Given the description of an element on the screen output the (x, y) to click on. 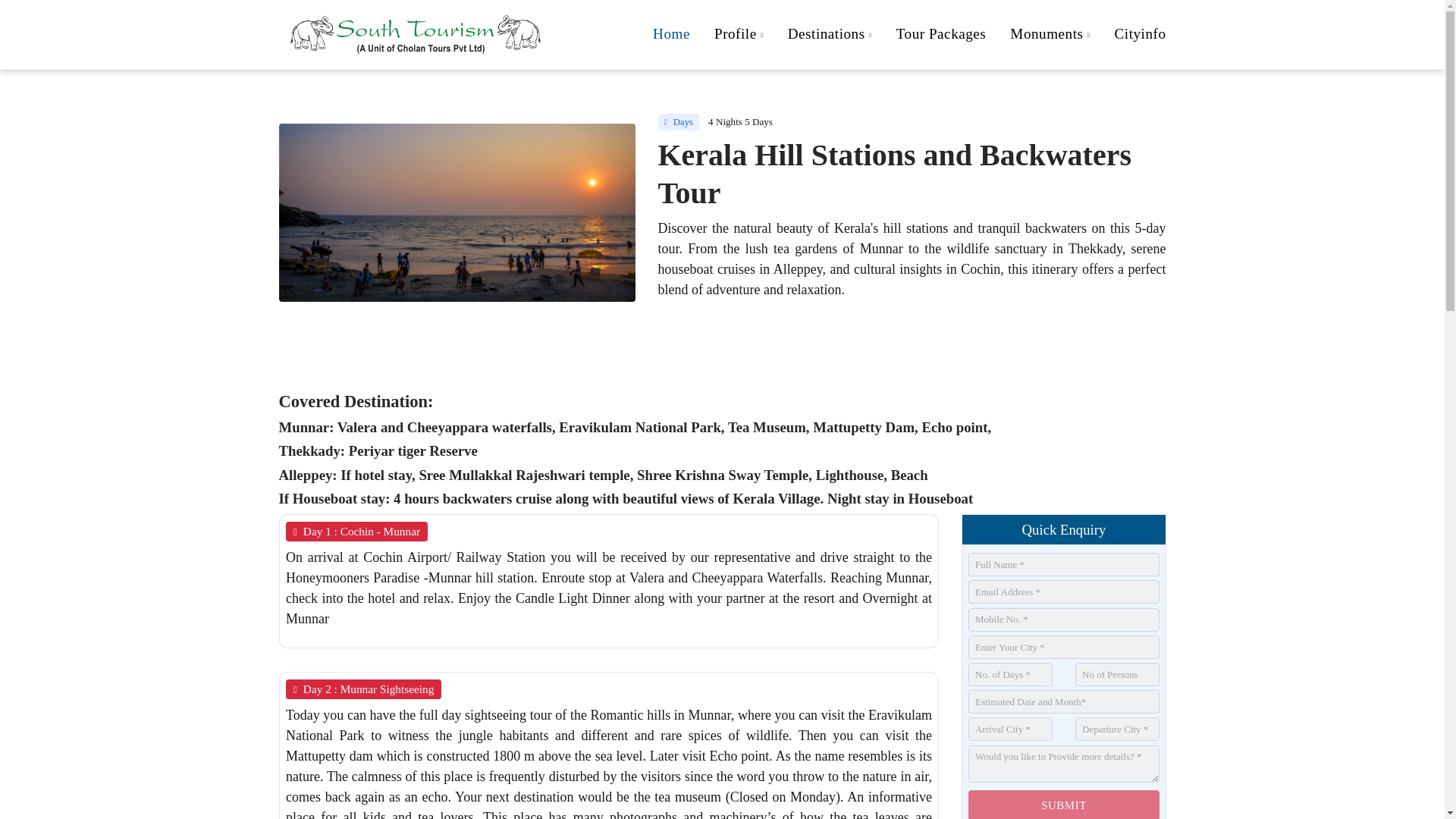
SUBMIT (1063, 804)
Day 2 : Munnar Sightseeing (903, 34)
Profile (363, 689)
Destinations (738, 34)
Tour Packages (829, 34)
Day 1 : Cochin - Munnar (940, 33)
Monuments (355, 530)
Home (1049, 34)
Cityinfo (670, 33)
